Given the description of an element on the screen output the (x, y) to click on. 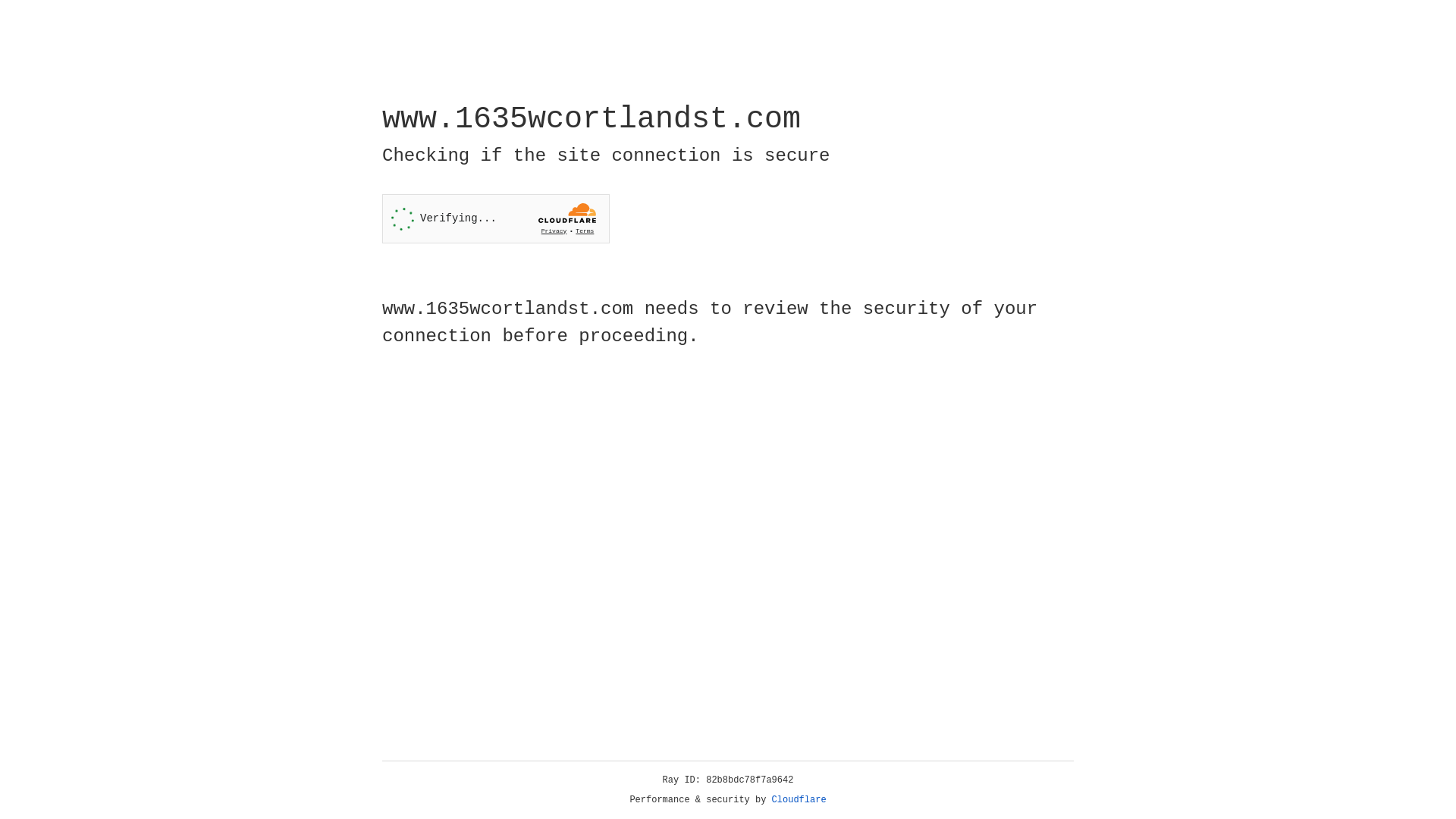
Widget containing a Cloudflare security challenge Element type: hover (495, 218)
Cloudflare Element type: text (798, 799)
